Given the description of an element on the screen output the (x, y) to click on. 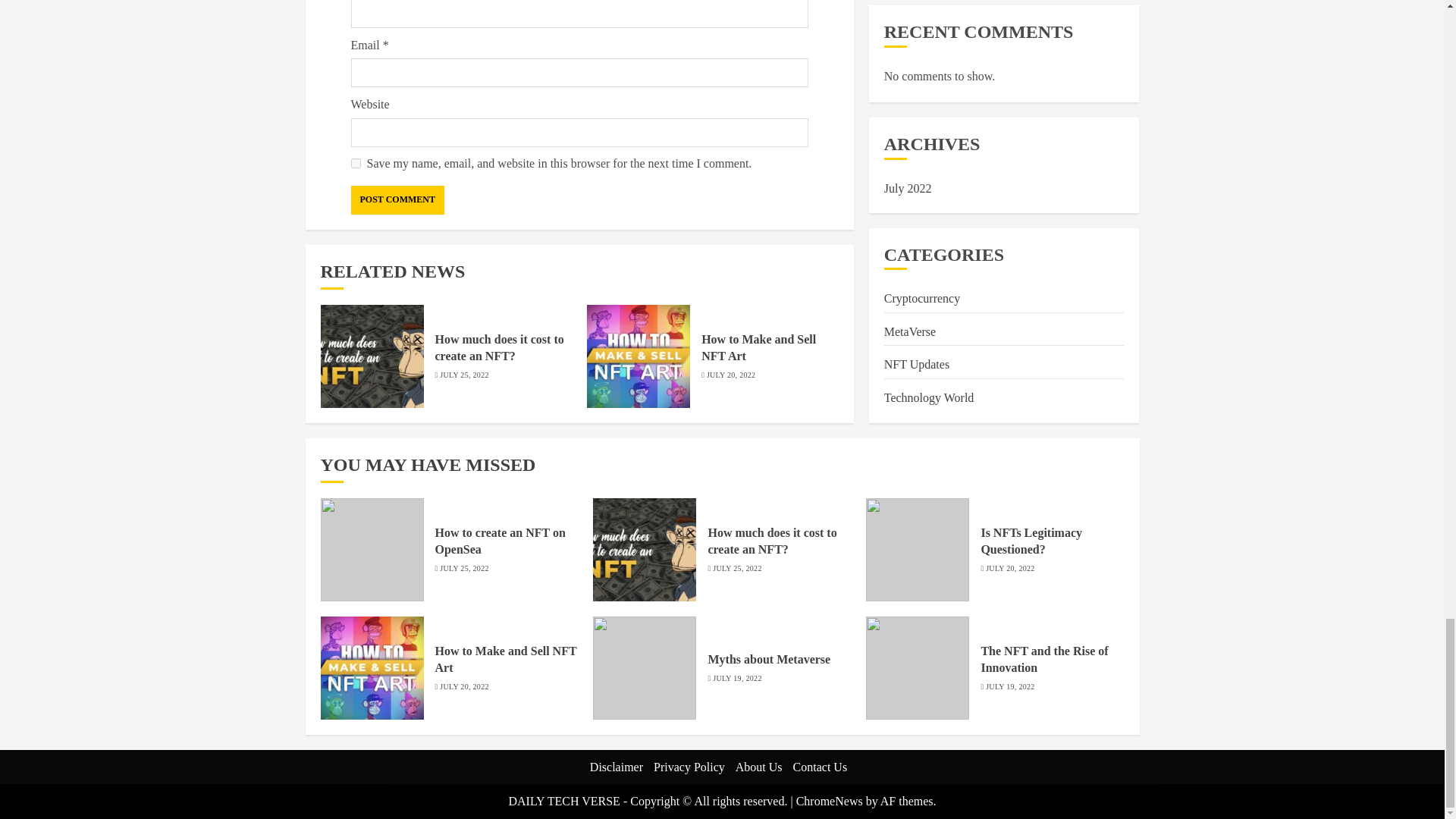
JULY 25, 2022 (463, 375)
How much does it cost to create an NFT? (499, 347)
JULY 20, 2022 (730, 375)
Post Comment (397, 199)
How to Make and Sell NFT Art (758, 347)
yes (354, 163)
Post Comment (397, 199)
